Given the description of an element on the screen output the (x, y) to click on. 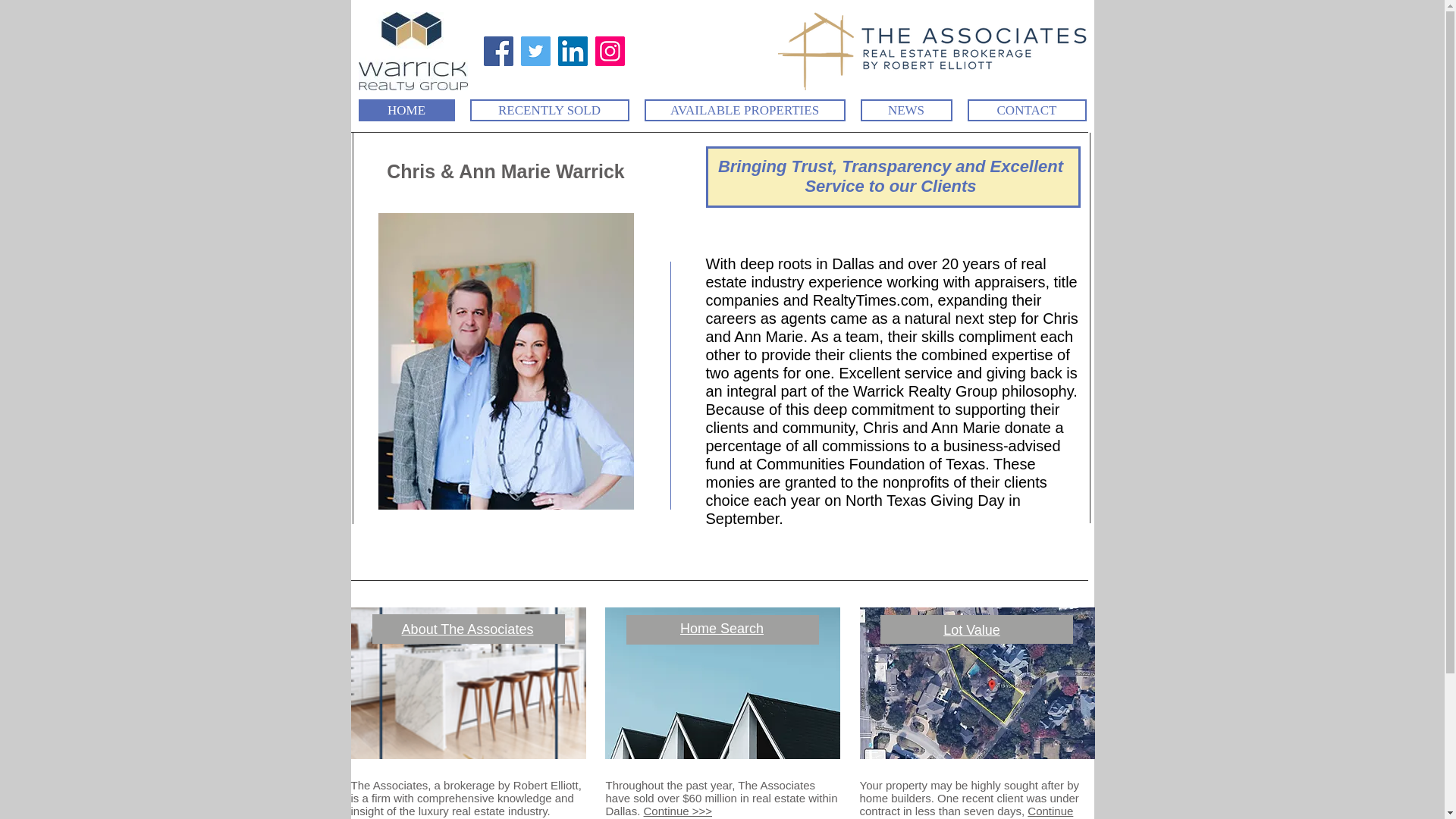
RECENTLY SOLD (549, 110)
About The Associates (467, 629)
Home Search (720, 628)
Lot Value (971, 630)
NEWS (906, 110)
CONTACT (1027, 110)
AVAILABLE PROPERTIES (745, 110)
HOME (406, 110)
